Given the description of an element on the screen output the (x, y) to click on. 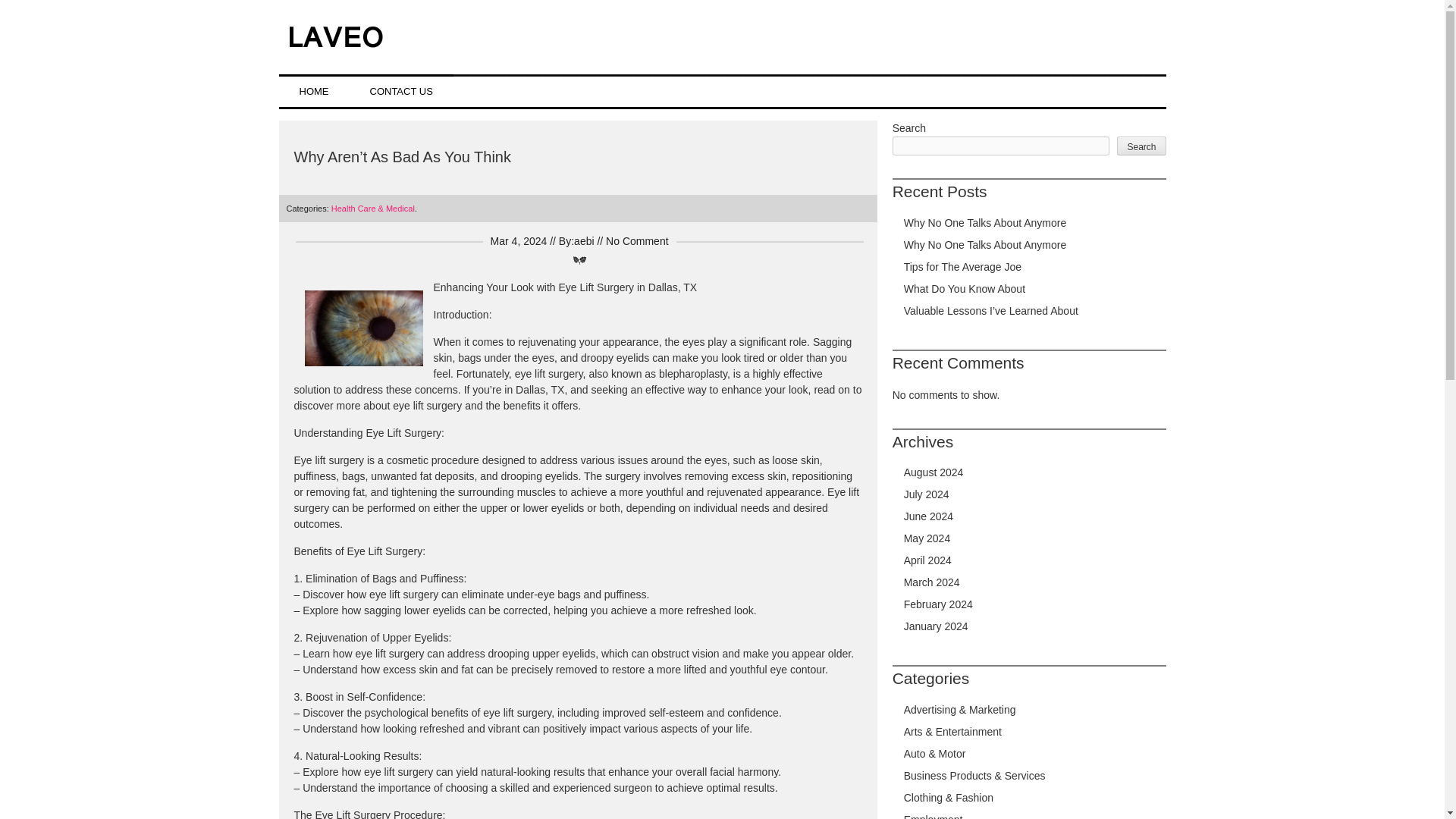
Tips for The Average Joe (963, 266)
June 2024 (928, 516)
April 2024 (928, 560)
August 2024 (933, 472)
January 2024 (936, 625)
HOME (314, 90)
May 2024 (927, 538)
Why No One Talks About Anymore (985, 223)
Search (1141, 146)
Employment (933, 816)
